Given the description of an element on the screen output the (x, y) to click on. 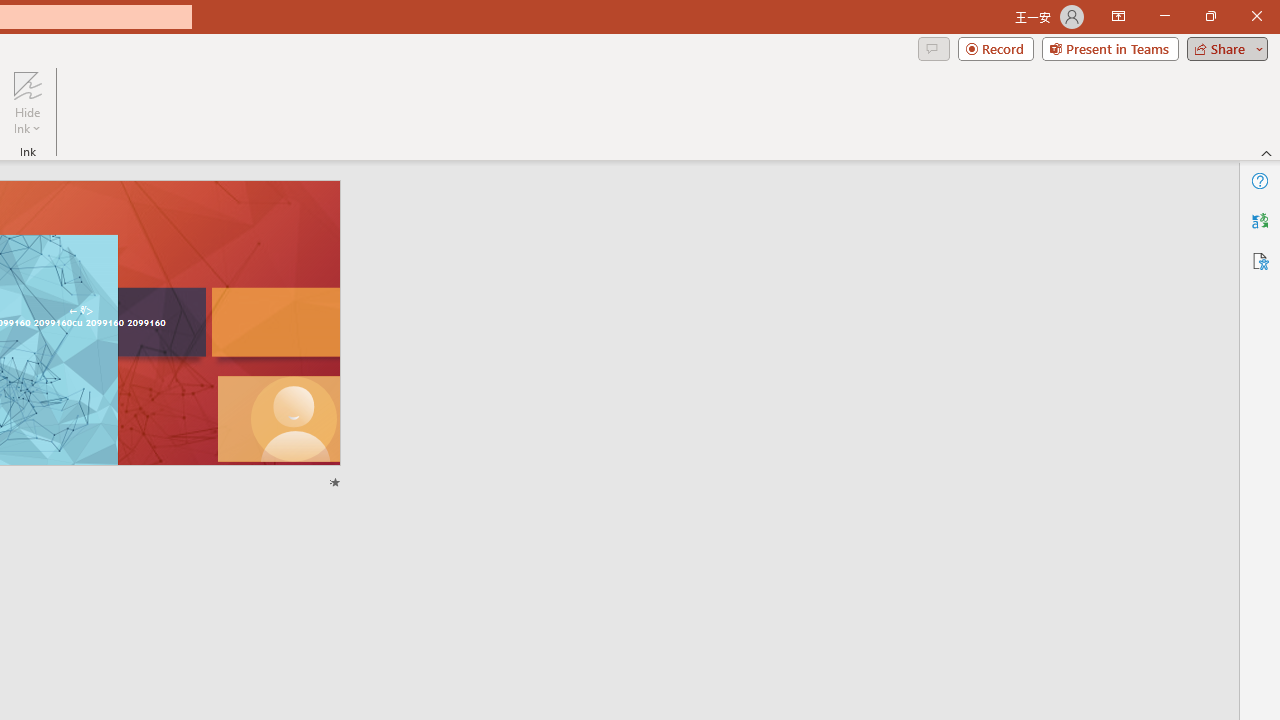
Hide Ink (27, 102)
Hide Ink (27, 84)
